Given the description of an element on the screen output the (x, y) to click on. 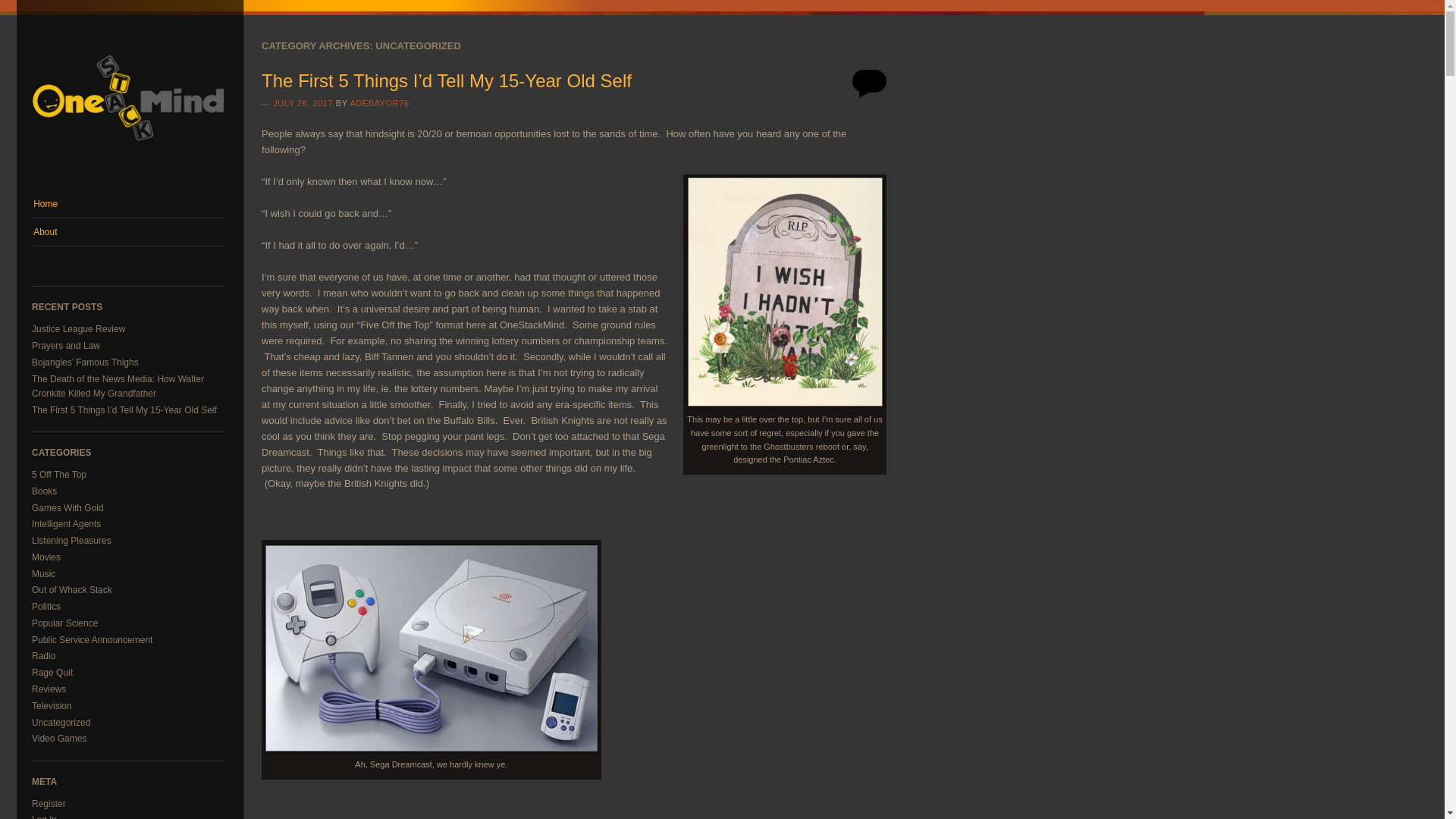
4:28 PM (303, 102)
Out of Whack Stack (72, 589)
Games With Gold (67, 507)
5 Off The Top (58, 474)
One Stack Mind (190, 182)
Popular Science (64, 623)
Video Games (59, 738)
ADEBAYOR76 (379, 102)
ONE STACK MIND (190, 182)
Register (48, 803)
